Given the description of an element on the screen output the (x, y) to click on. 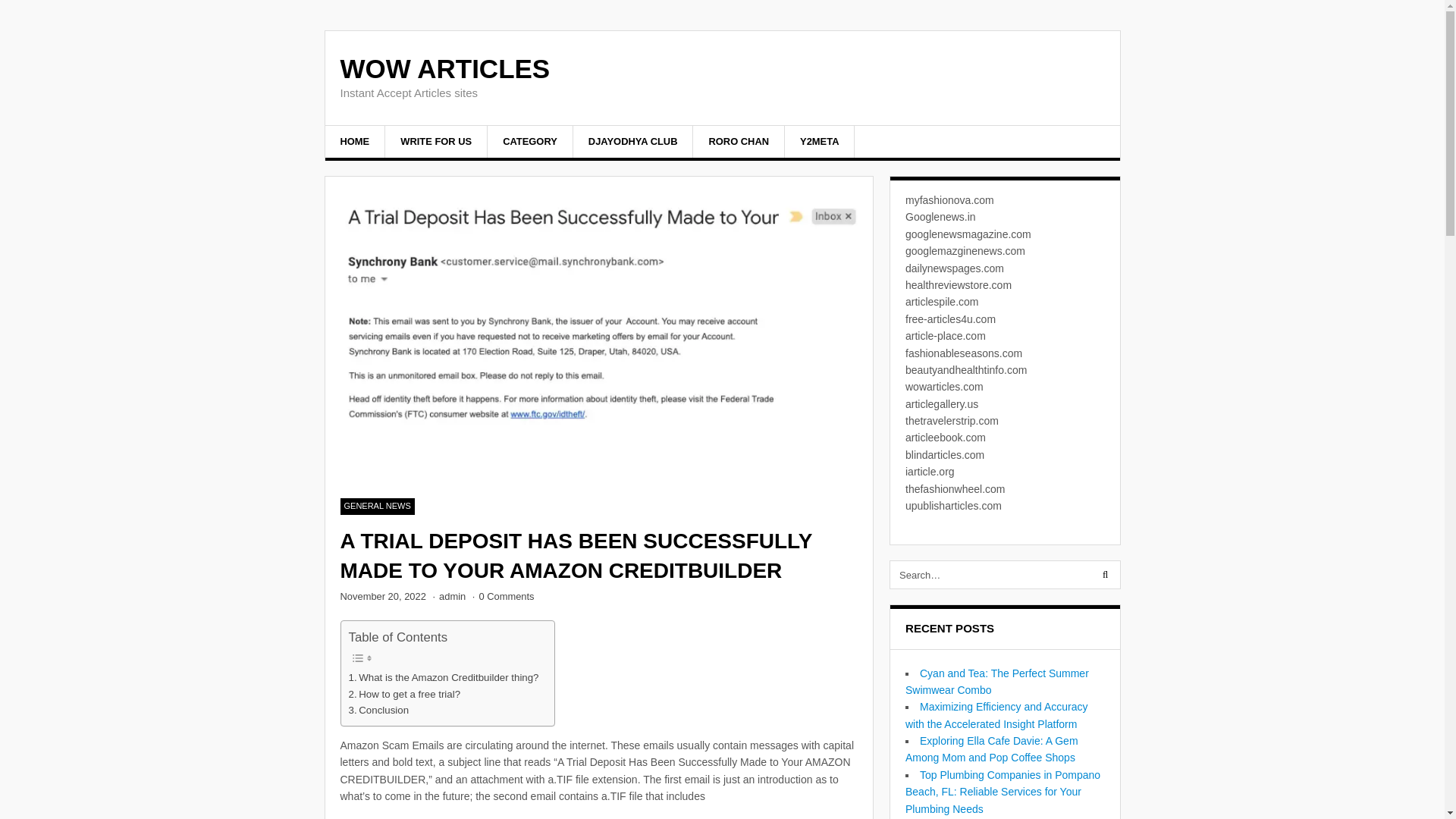
Conclusion (379, 709)
How to get a free trial? (405, 693)
What is the Amazon Creditbuilder thing? (443, 677)
CATEGORY (530, 142)
What is the Amazon Creditbuilder thing? (443, 677)
WOW Articles (444, 69)
RORO CHAN (738, 142)
Posts by admin (452, 595)
DJAYODHYA CLUB (633, 142)
WOW ARTICLES (444, 69)
